Given the description of an element on the screen output the (x, y) to click on. 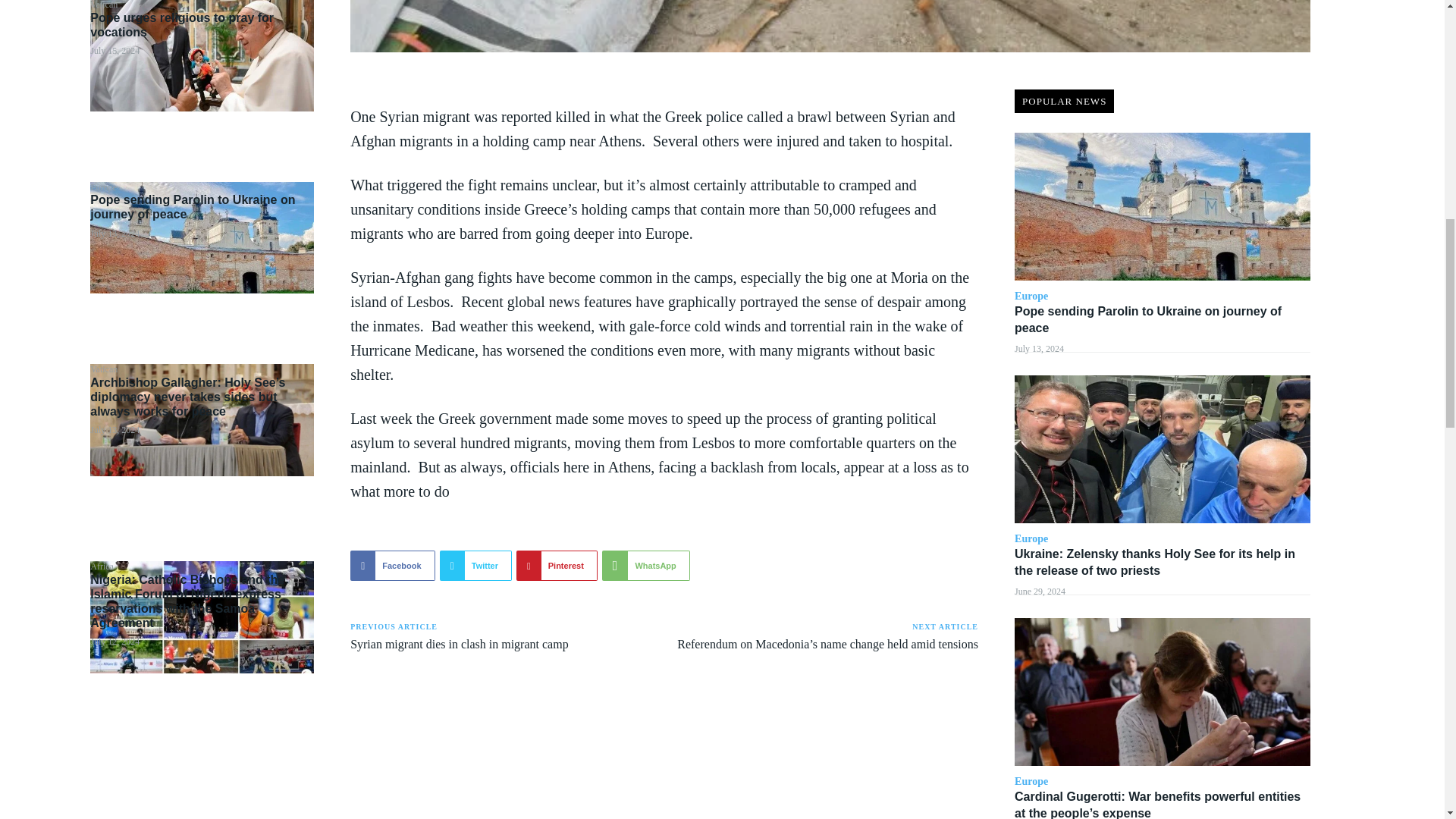
Pope sending Parolin to Ukraine on journey of peace (192, 206)
Pope urges religious to pray for vocations (202, 55)
Pope sending Parolin to Ukraine on journey of peace (202, 237)
Pope urges religious to pray for vocations (181, 24)
